Given the description of an element on the screen output the (x, y) to click on. 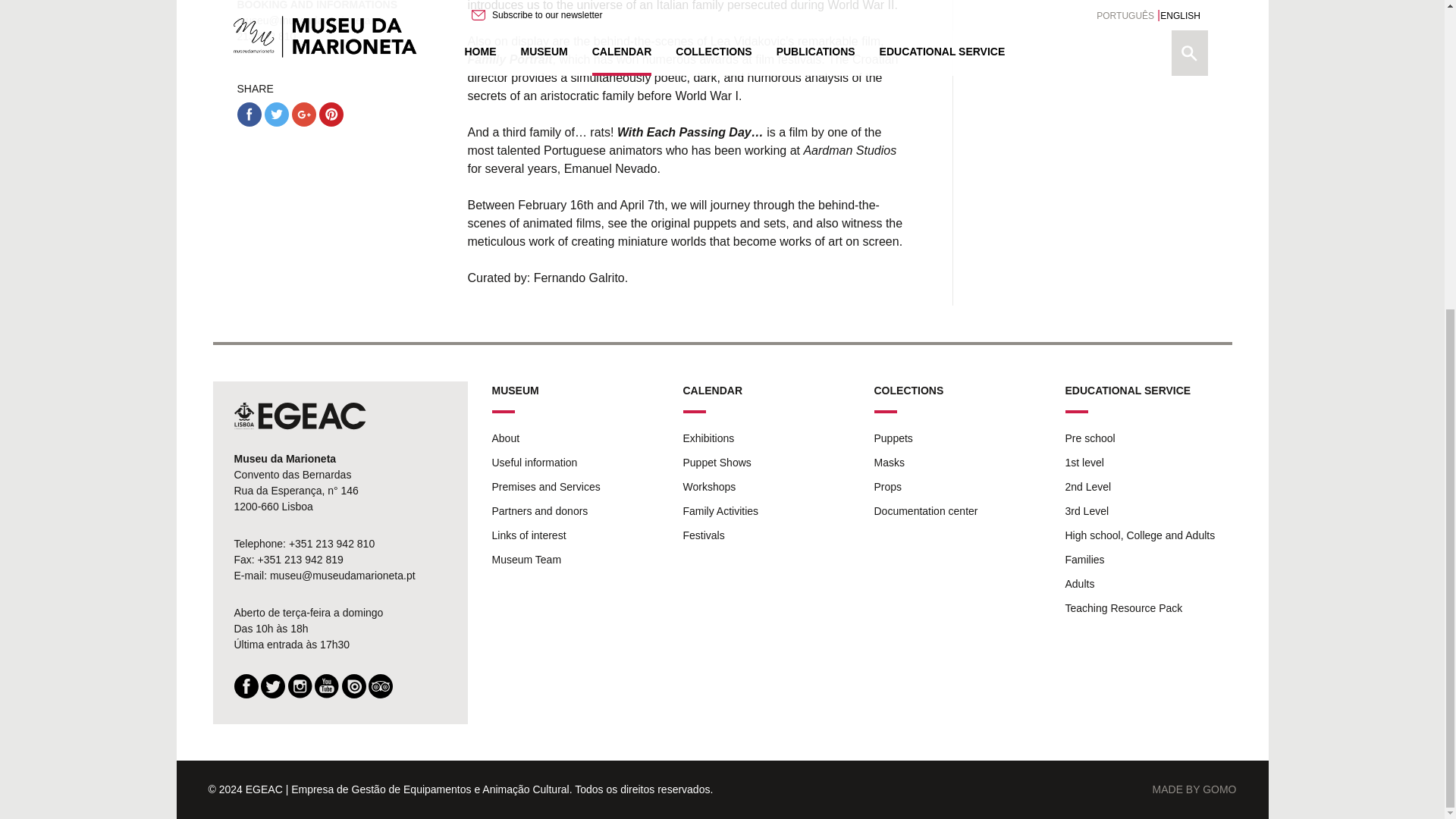
Share on Pinterest (330, 114)
EGEAC (298, 415)
Share on Twitter (275, 114)
Made by GOMO (1194, 788)
Share on Facebook (247, 114)
